Given the description of an element on the screen output the (x, y) to click on. 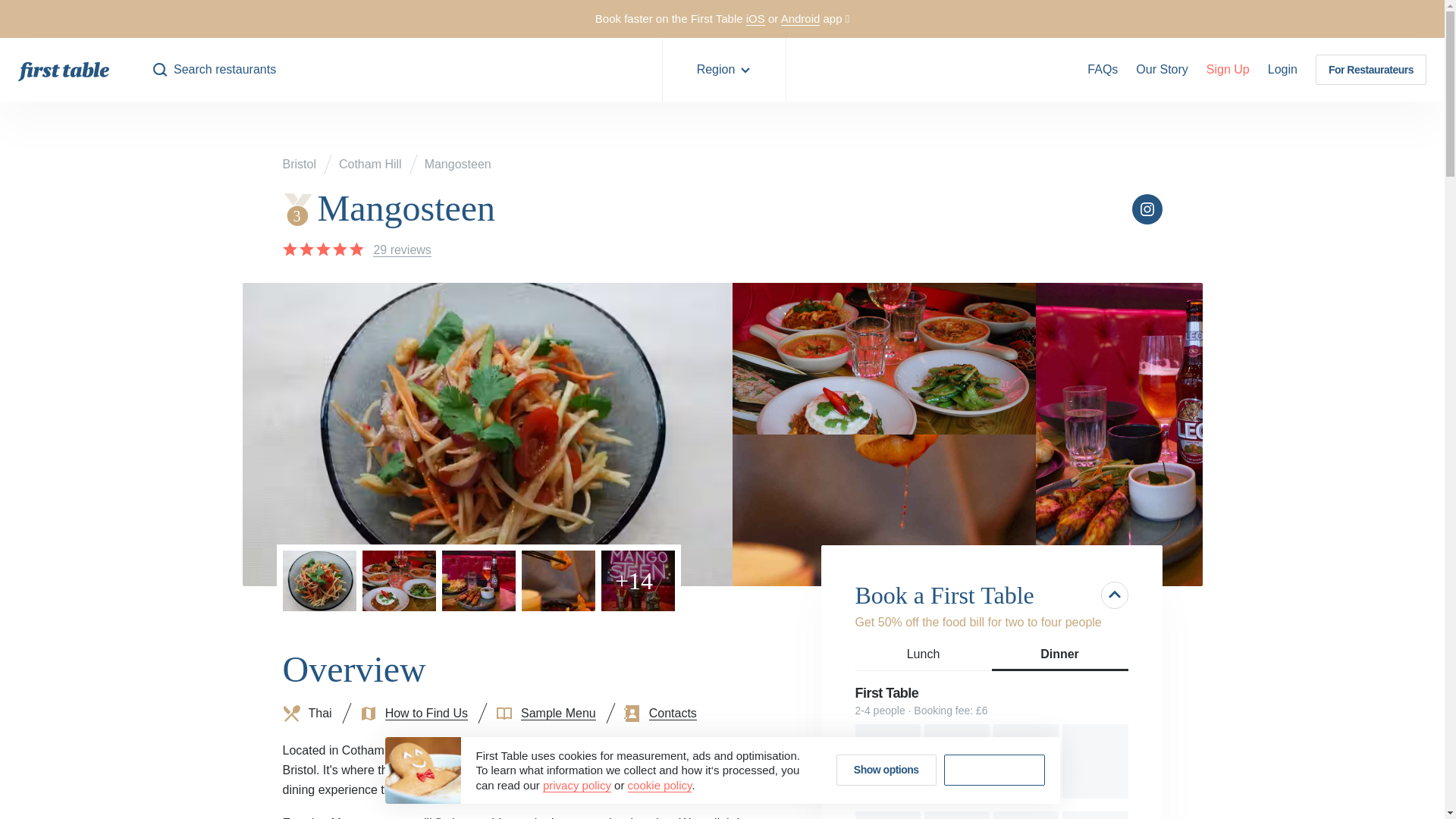
iOS (888, 761)
Sign Up (957, 815)
Login (755, 18)
Cotham Hill (1228, 69)
Mangosteen (1282, 69)
Android (1094, 815)
For Restaurateurs (370, 164)
Our Story (458, 164)
FAQs (800, 18)
Bristol (1371, 69)
